Given the description of an element on the screen output the (x, y) to click on. 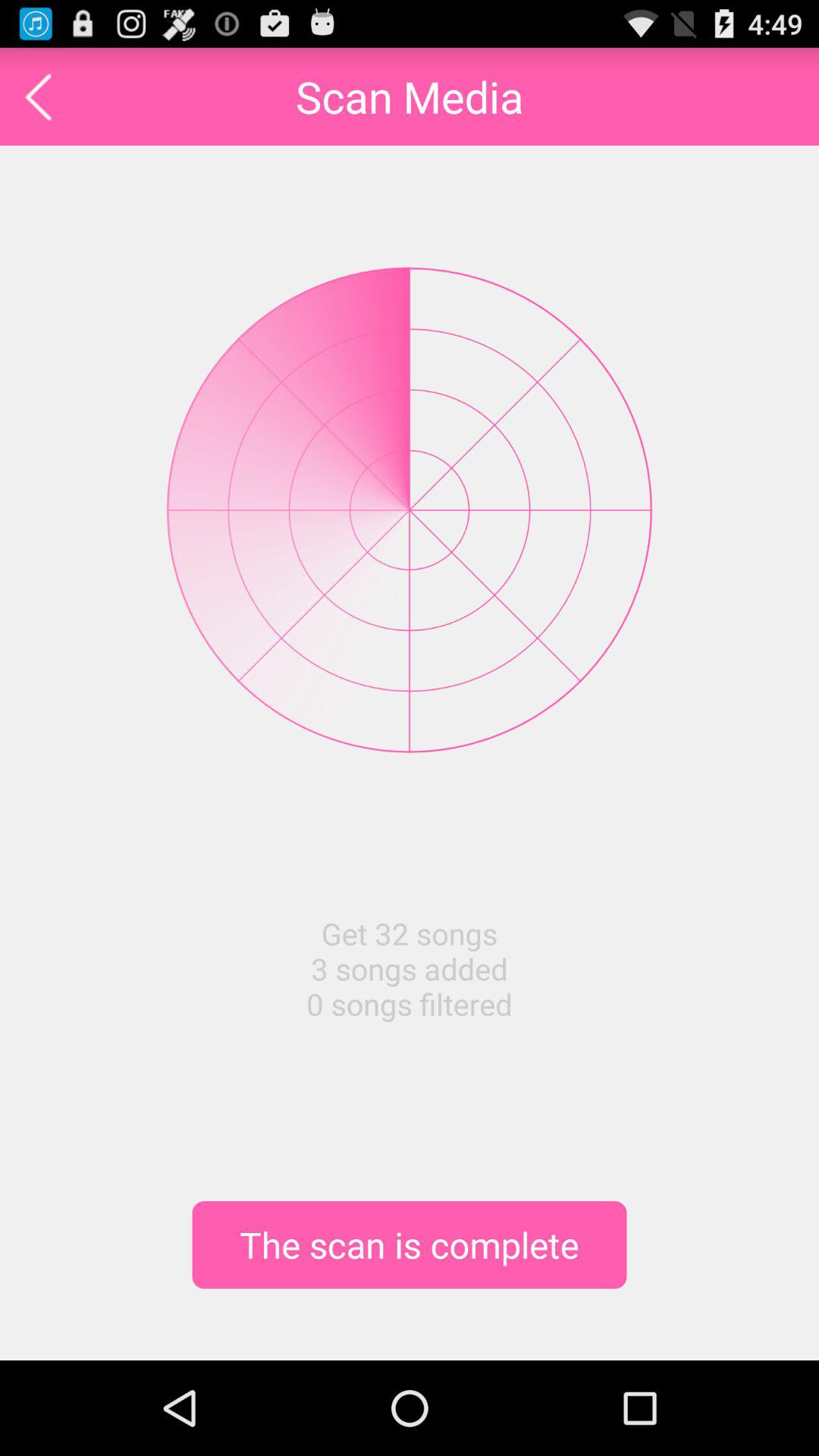
click the icon at the top left corner (38, 96)
